Given the description of an element on the screen output the (x, y) to click on. 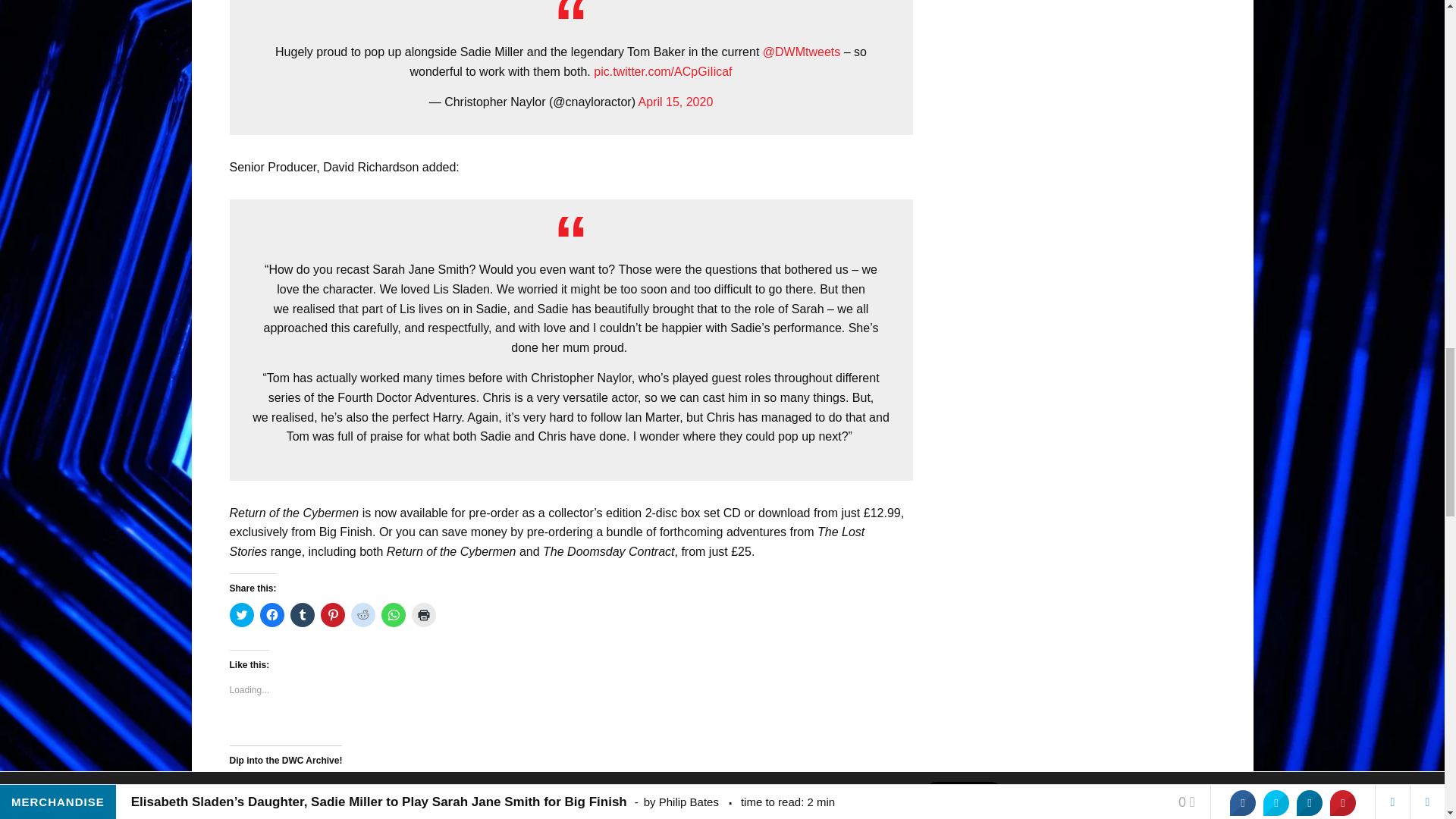
Click to print (422, 614)
Click to share on Twitter (240, 614)
Click to share on Pinterest (331, 614)
Click to share on Tumblr (301, 614)
Click to share on Facebook (271, 614)
Click to share on WhatsApp (392, 614)
Click to share on Reddit (362, 614)
